Given the description of an element on the screen output the (x, y) to click on. 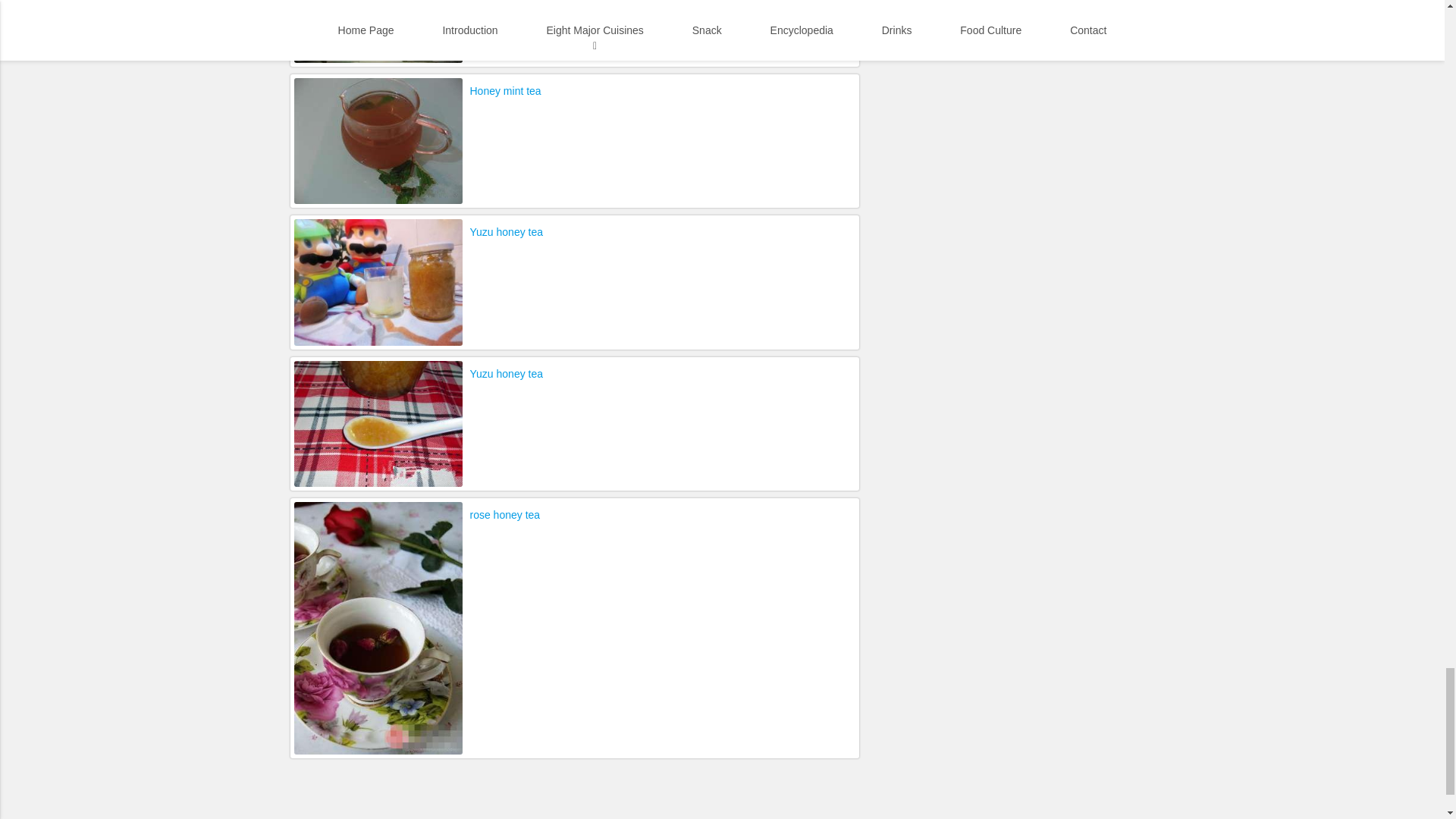
Yuzu honey tea (506, 373)
Honey mint tea (505, 90)
rose honey tea (505, 515)
Yuzu honey tea (506, 231)
